Given the description of an element on the screen output the (x, y) to click on. 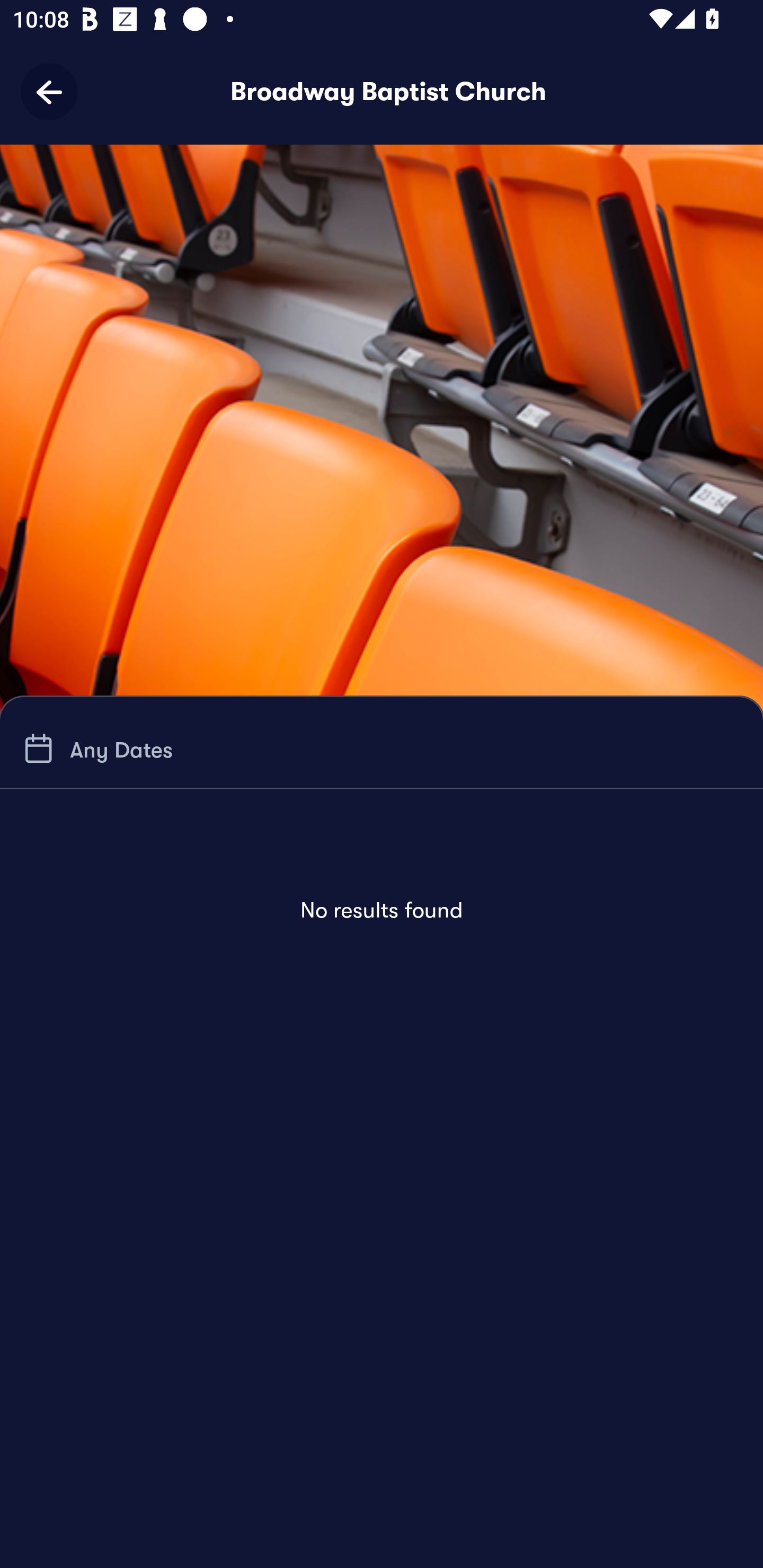
Any Dates (95, 749)
